Given the description of an element on the screen output the (x, y) to click on. 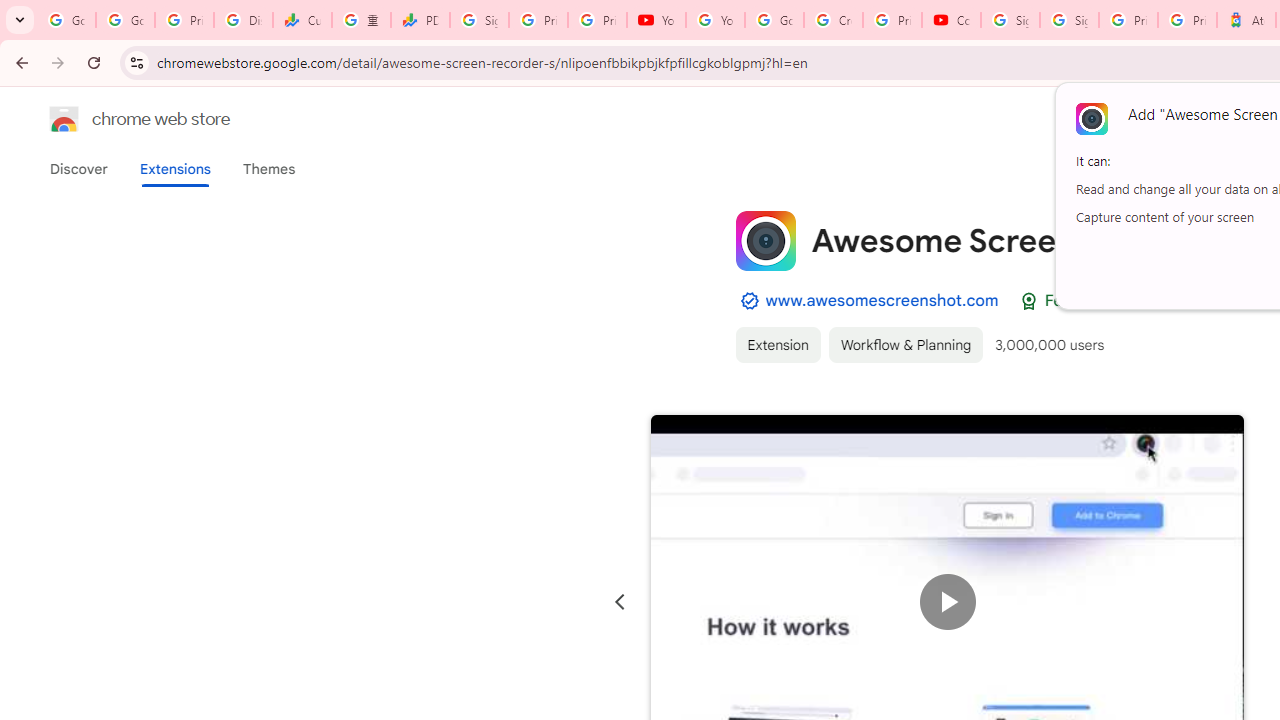
By Established Publisher Badge (749, 301)
Item media 1 video (947, 601)
Featured Badge (1028, 301)
PDD Holdings Inc - ADR (PDD) Price & News - Google Finance (420, 20)
Google Account Help (774, 20)
Themes (269, 169)
Item logo image for Awesome Screen Recorder & Screenshot (765, 240)
Previous slide (619, 601)
Chrome Web Store logo chrome web store (118, 118)
Discover (79, 169)
